Given the description of an element on the screen output the (x, y) to click on. 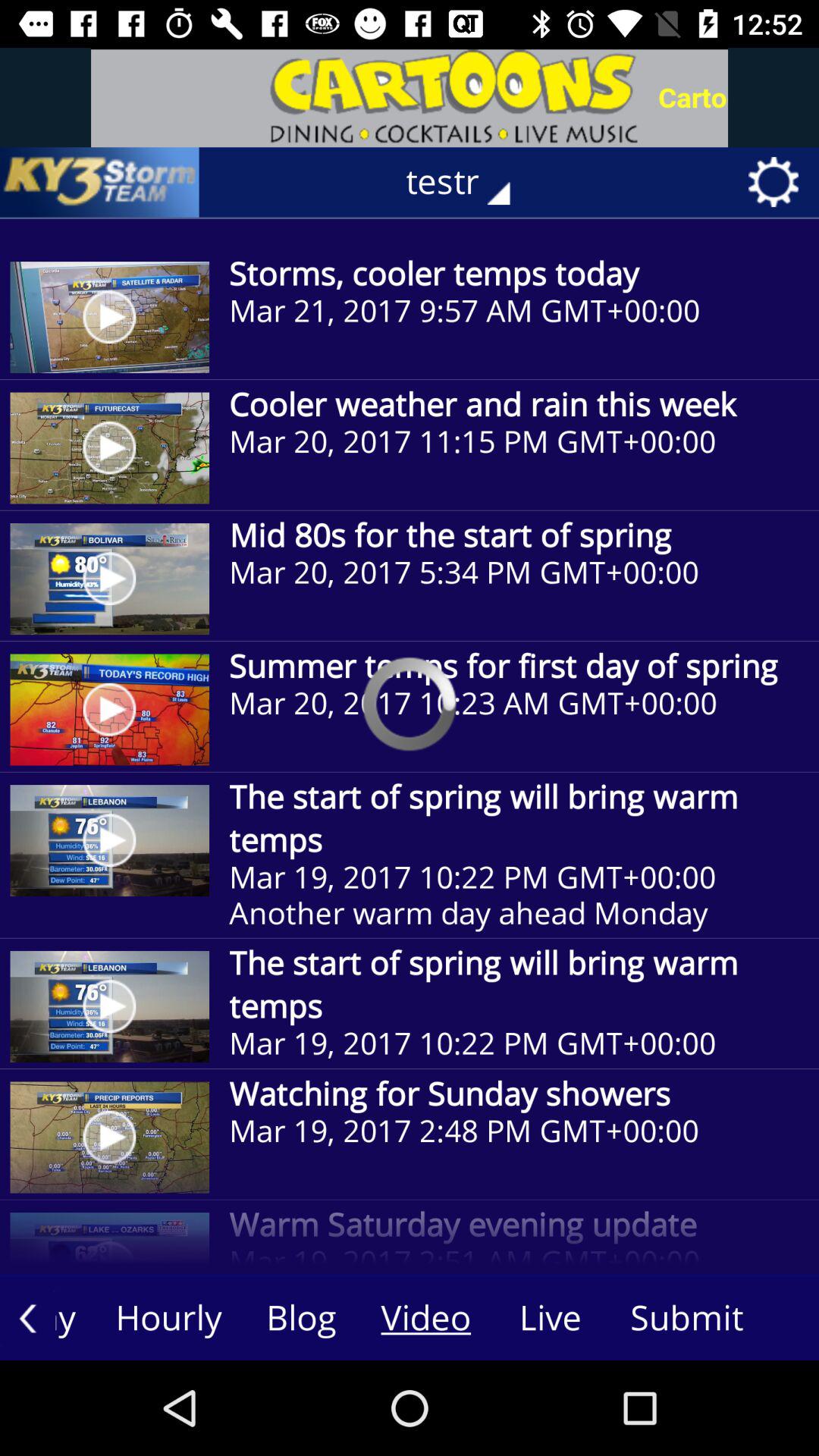
open icon to the left of testr item (99, 182)
